Given the description of an element on the screen output the (x, y) to click on. 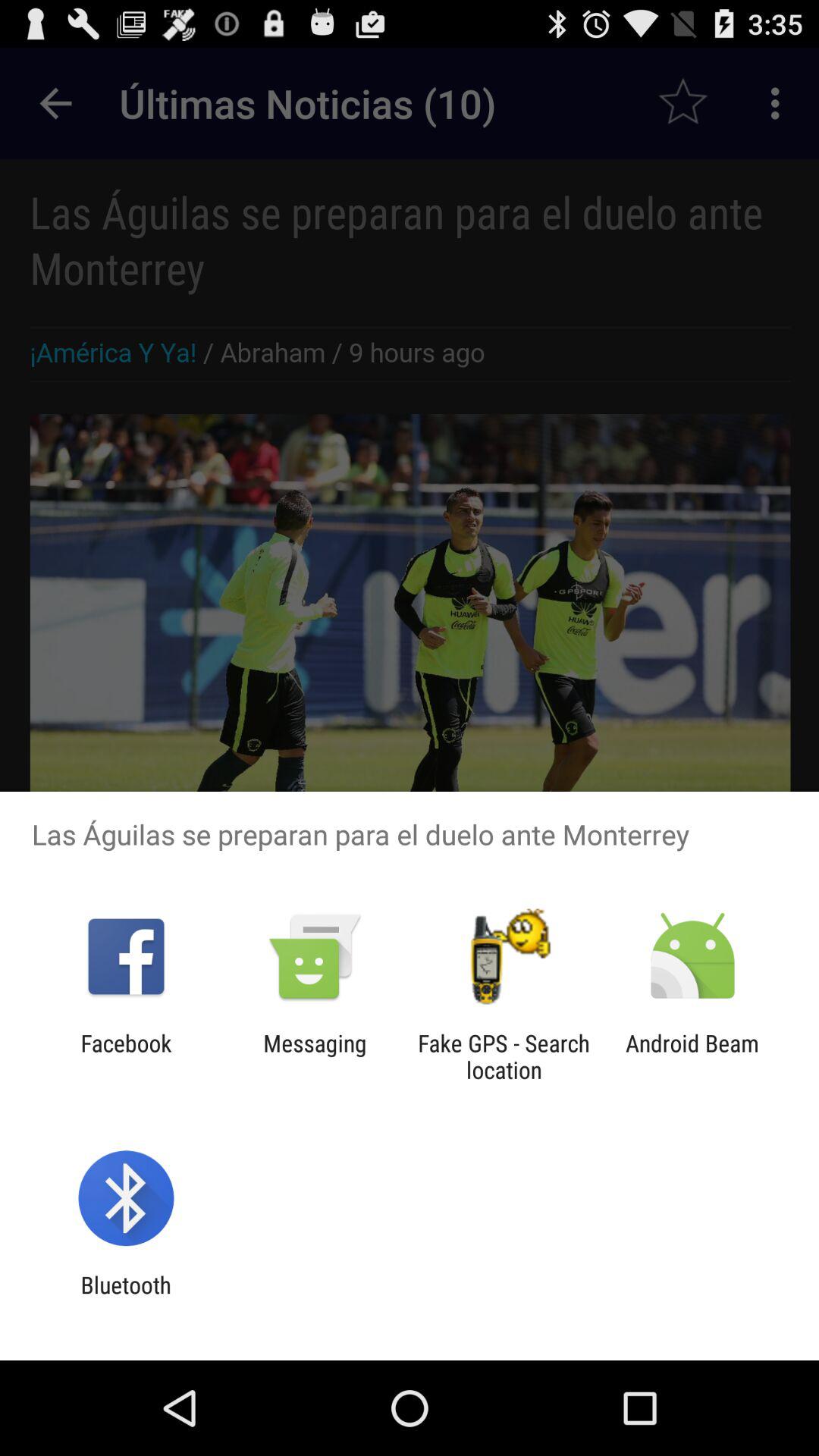
swipe to messaging (314, 1056)
